Given the description of an element on the screen output the (x, y) to click on. 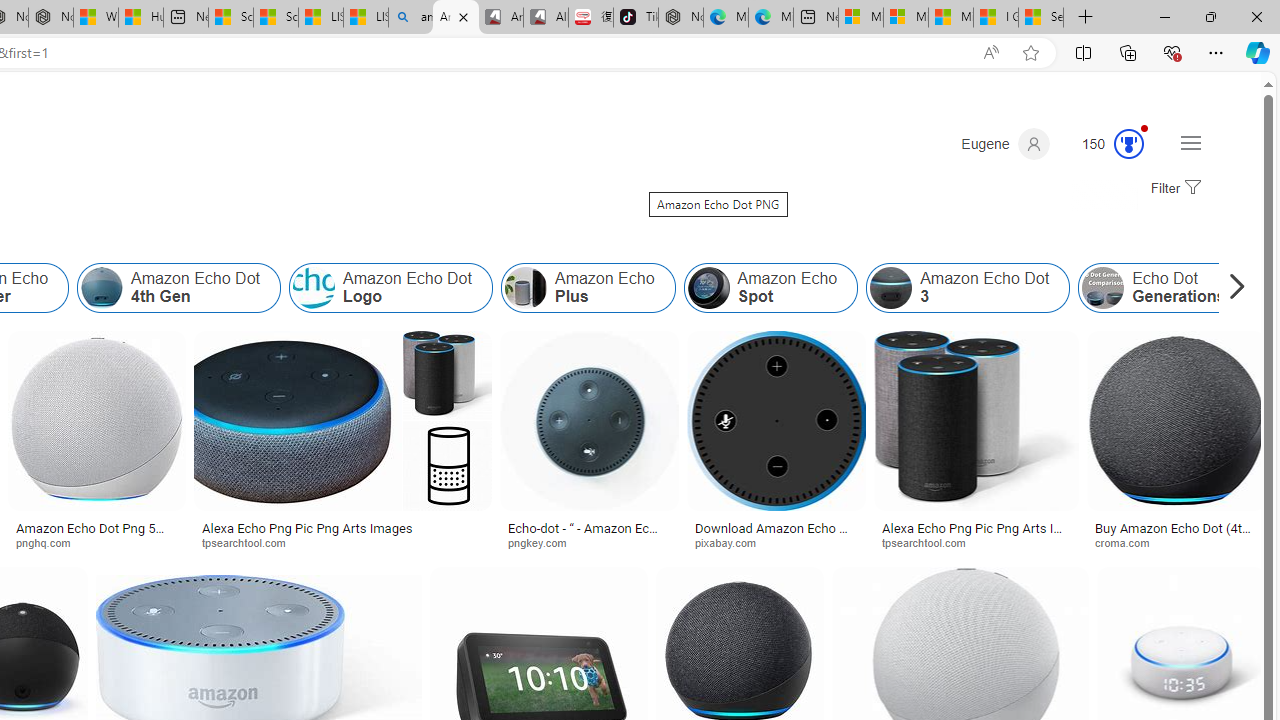
I Gained 20 Pounds of Muscle in 30 Days! | Watch (995, 17)
Amazon Echo Plus (587, 287)
pngkey.com (544, 541)
Amazon Echo Dot 3 (968, 287)
tpsearchtool.com (976, 542)
Huge shark washes ashore at New York City beach | Watch (140, 17)
Amazon Echo Dot Png 542 Download (96, 534)
Echo Dot Generations (1103, 287)
Echo Dot Generations (1162, 287)
